Given the description of an element on the screen output the (x, y) to click on. 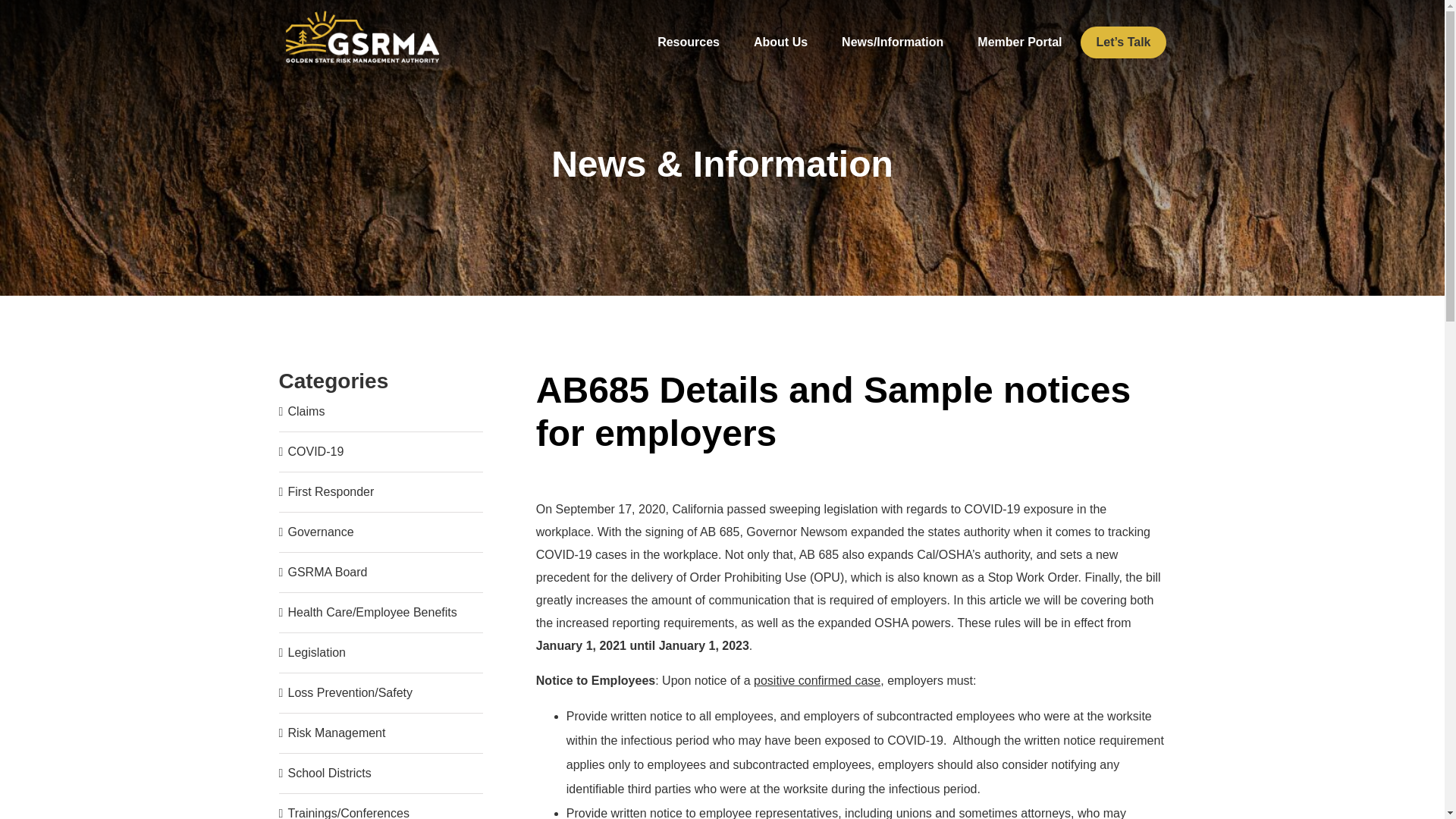
Resources (688, 41)
Member Portal (1019, 41)
About Us (780, 41)
